Given the description of an element on the screen output the (x, y) to click on. 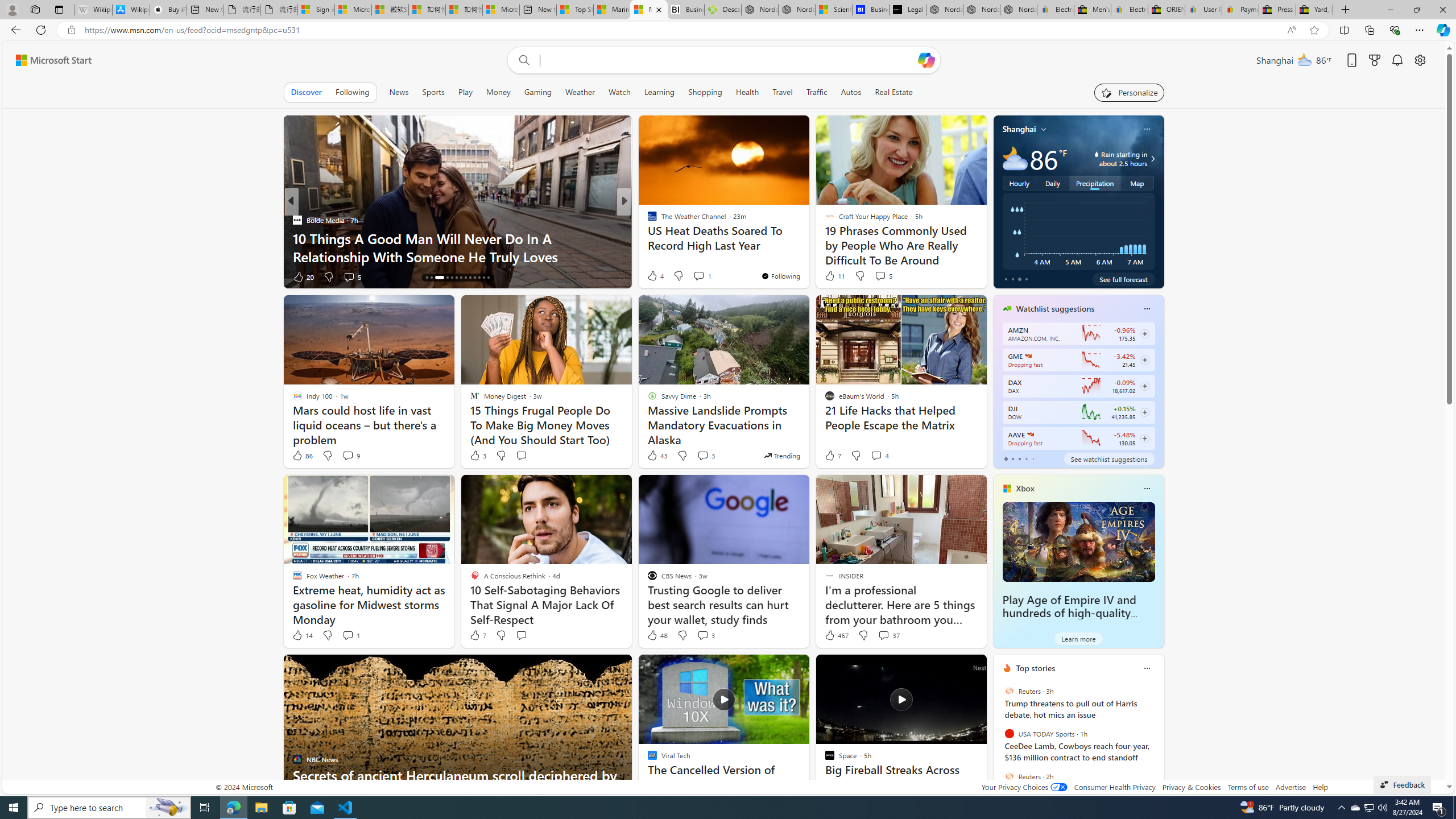
123 Like (654, 276)
Health (746, 92)
86 Like (301, 455)
View comments 1 Comment (347, 635)
Help (1320, 786)
This story is trending (781, 455)
Open settings (1420, 60)
Real Estate (893, 92)
You're following The Weather Channel (780, 275)
AutomationID: tab-25 (483, 277)
